Given the description of an element on the screen output the (x, y) to click on. 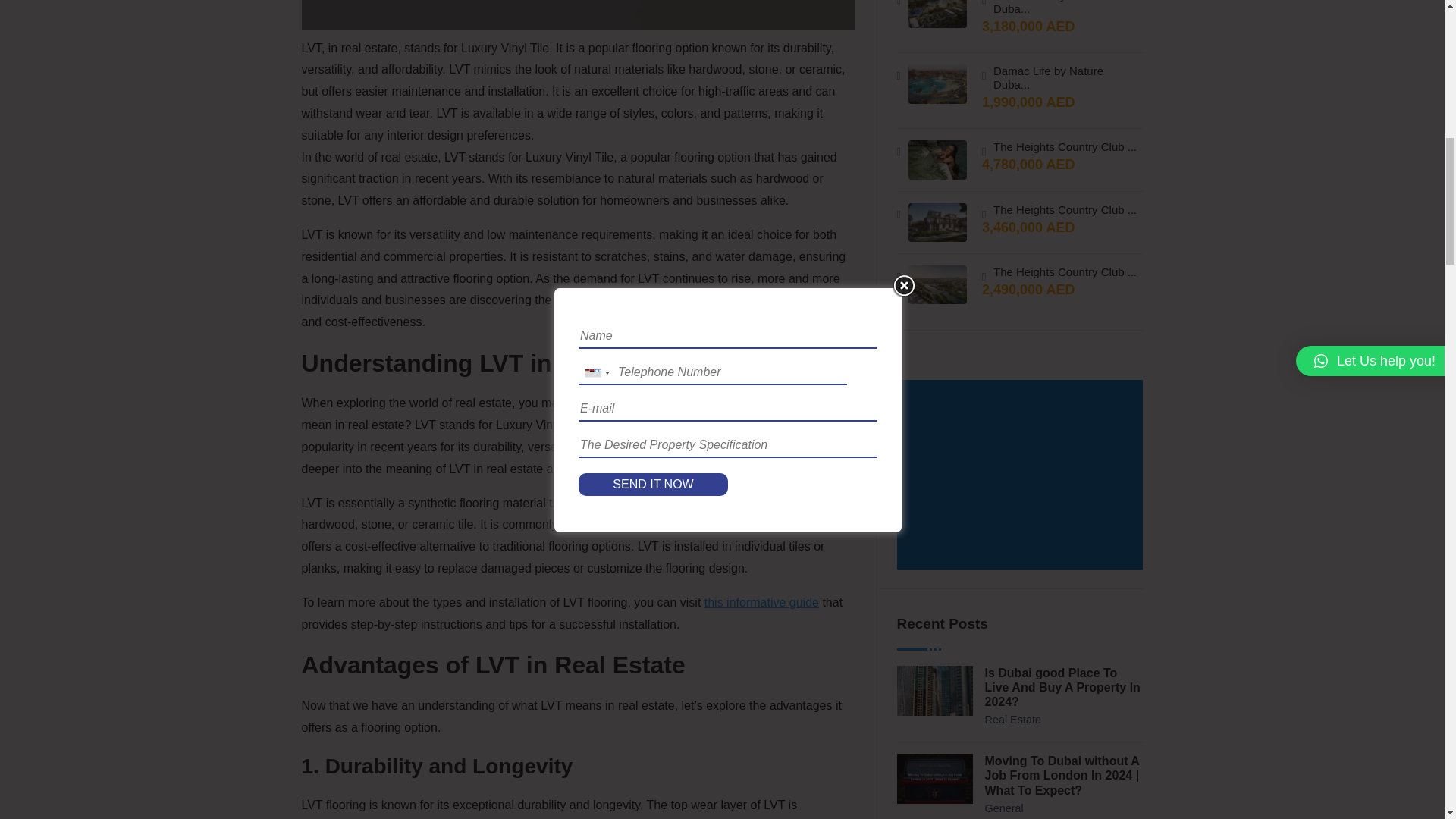
The Heights Country Club ... (1064, 146)
Advertisement (1022, 475)
Damac Life by Nature Duba... (1065, 77)
this informative guide (761, 602)
The Heights Country Club ... (1064, 210)
Damac Life by Nature Duba... (1065, 7)
